Given the description of an element on the screen output the (x, y) to click on. 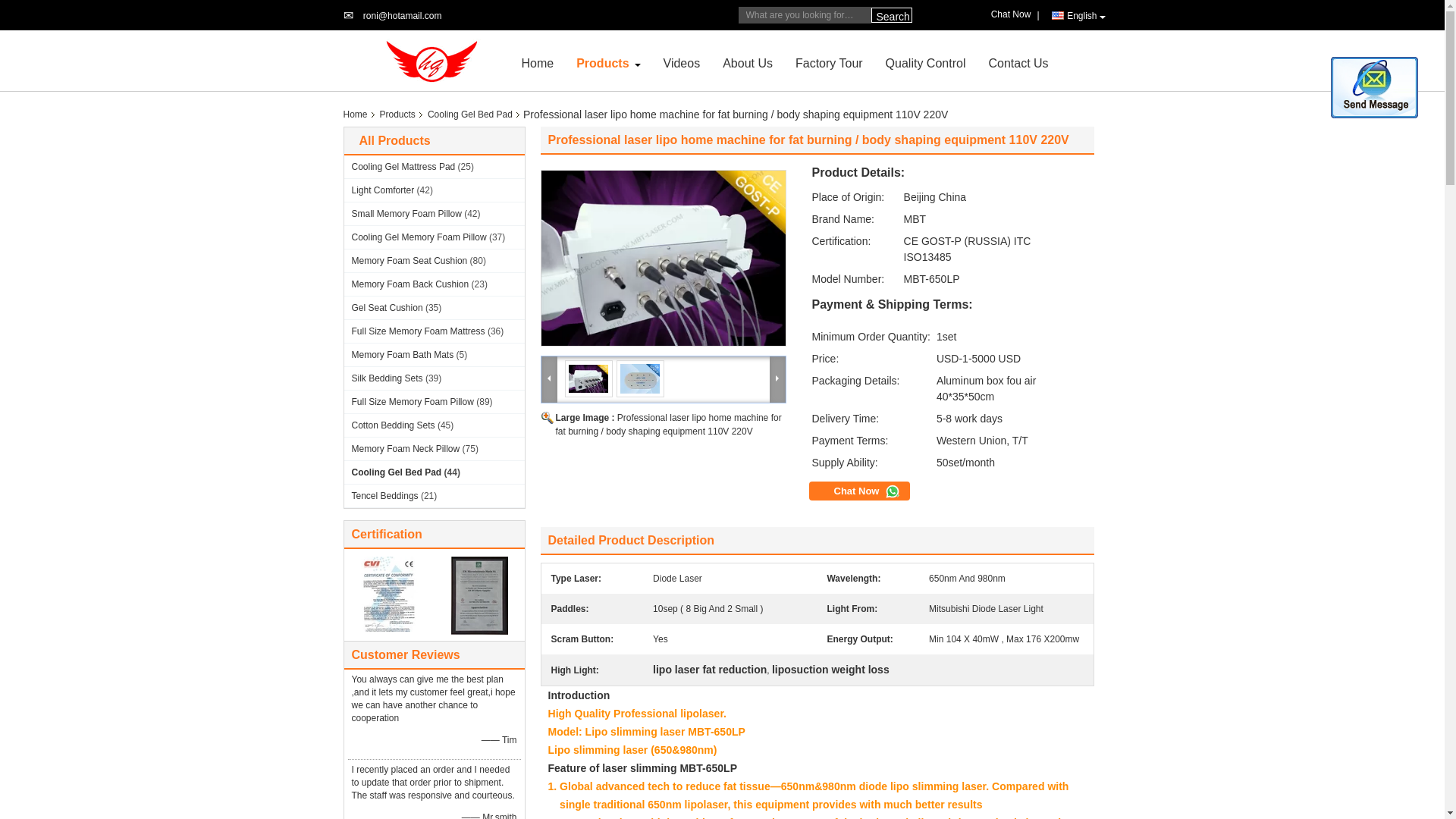
Search (890, 14)
Chat Now (1013, 14)
Products (602, 62)
English (1078, 15)
Home (537, 62)
